Given the description of an element on the screen output the (x, y) to click on. 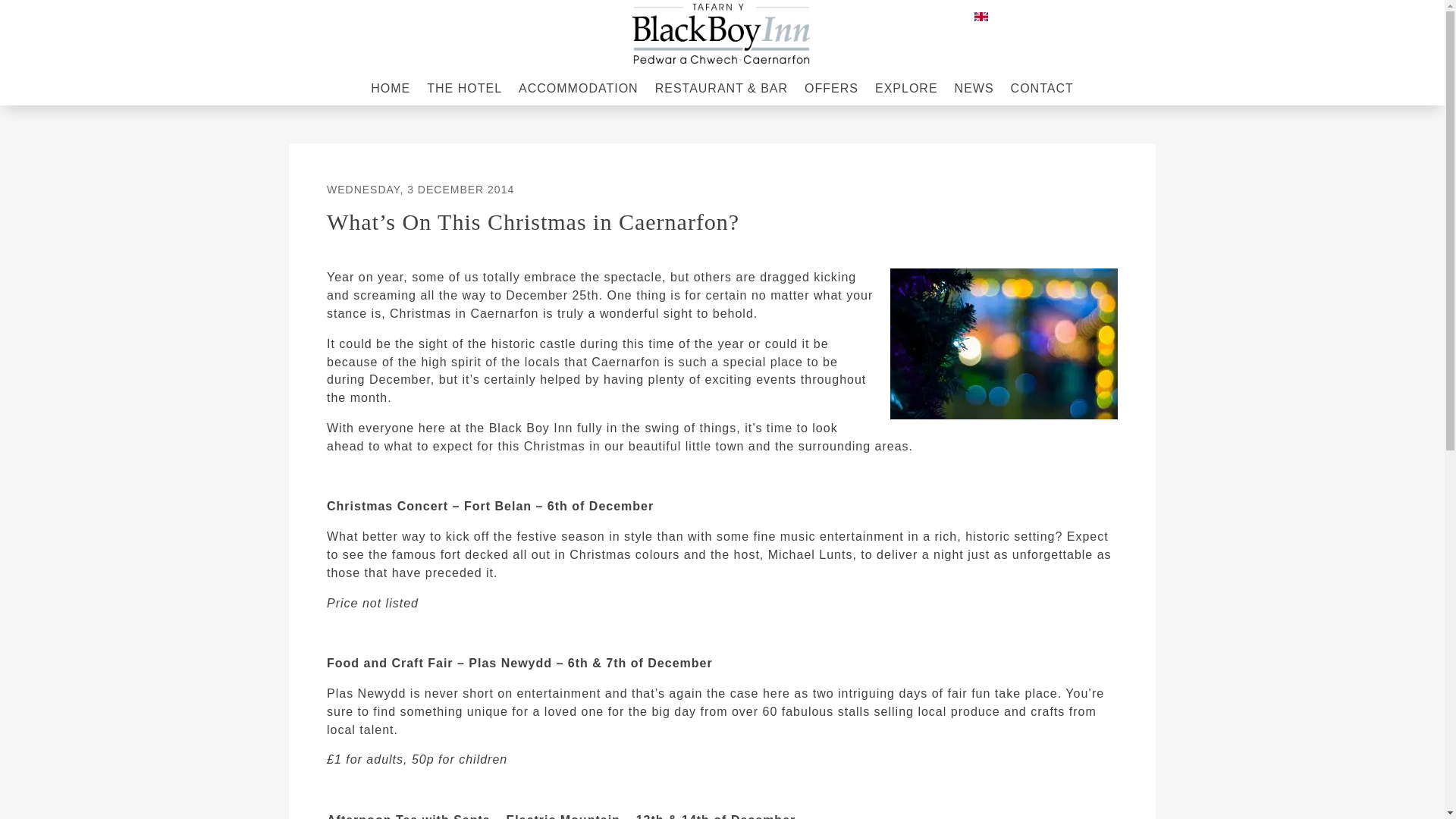
ACCOMMODATION (578, 90)
HOME (390, 90)
THE HOTEL (464, 90)
EXPLORE (906, 90)
CONTACT (1042, 90)
logo-02 (721, 34)
OFFERS (832, 90)
NEWS (974, 90)
